Given the description of an element on the screen output the (x, y) to click on. 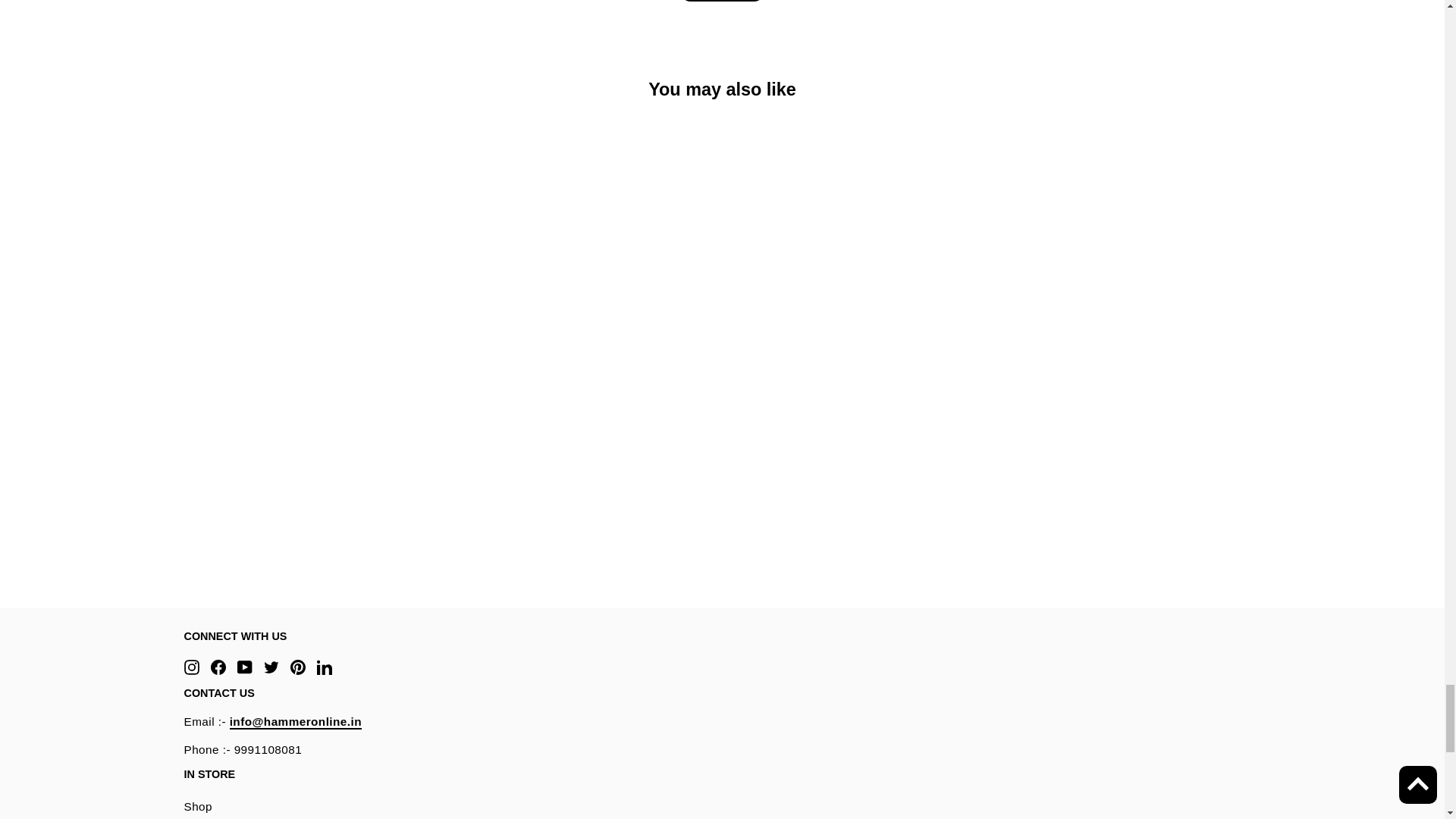
Hammer on LinkedIn (324, 666)
Hammer on Pinterest (296, 666)
Hammer on YouTube (243, 666)
twitter (271, 667)
instagram (190, 667)
Hammer on Instagram (190, 666)
Hammer on Facebook (218, 666)
Hammer on Twitter (271, 666)
